Given the description of an element on the screen output the (x, y) to click on. 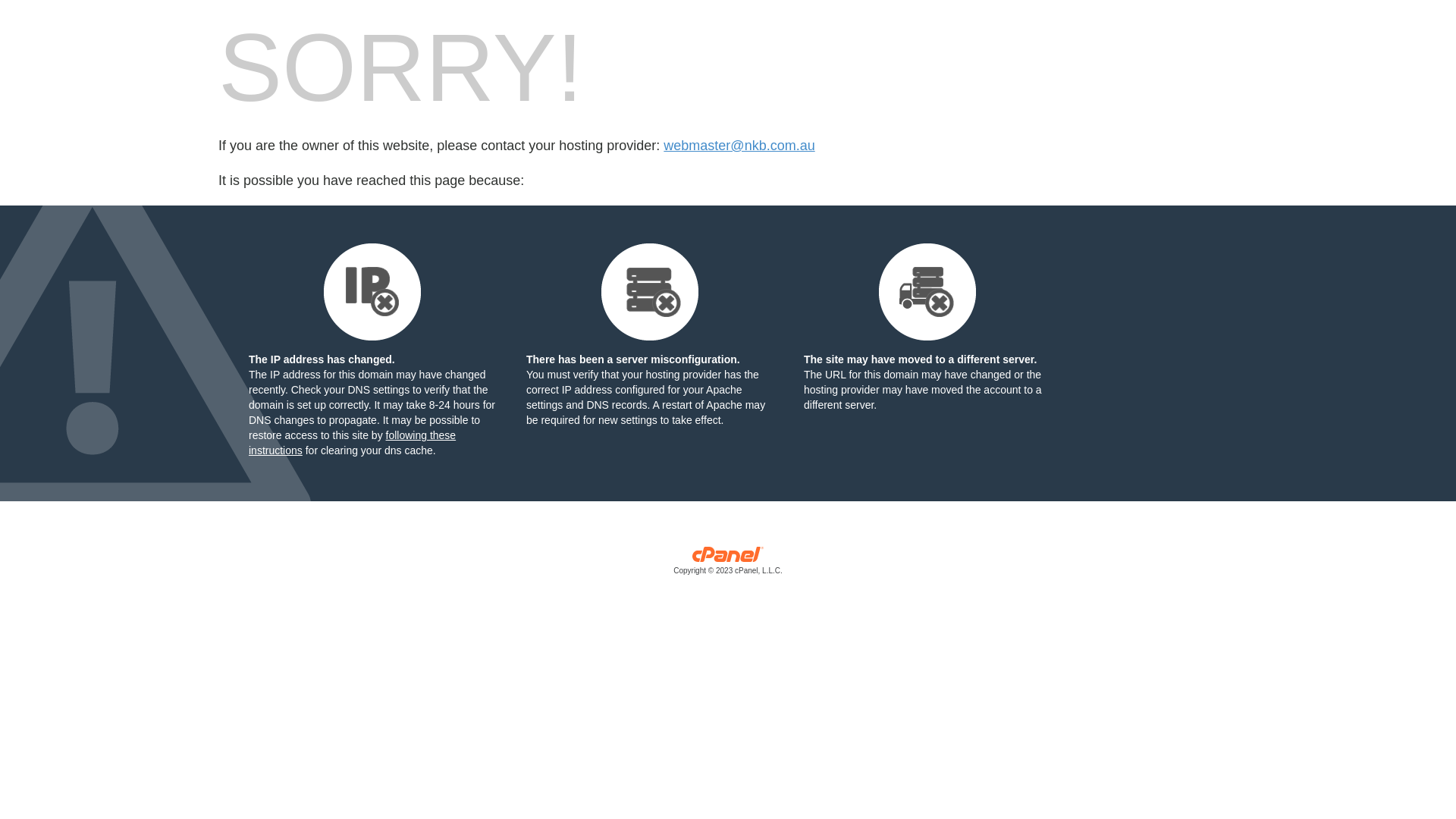
following these instructions Element type: text (351, 442)
webmaster@nkb.com.au Element type: text (738, 145)
